Given the description of an element on the screen output the (x, y) to click on. 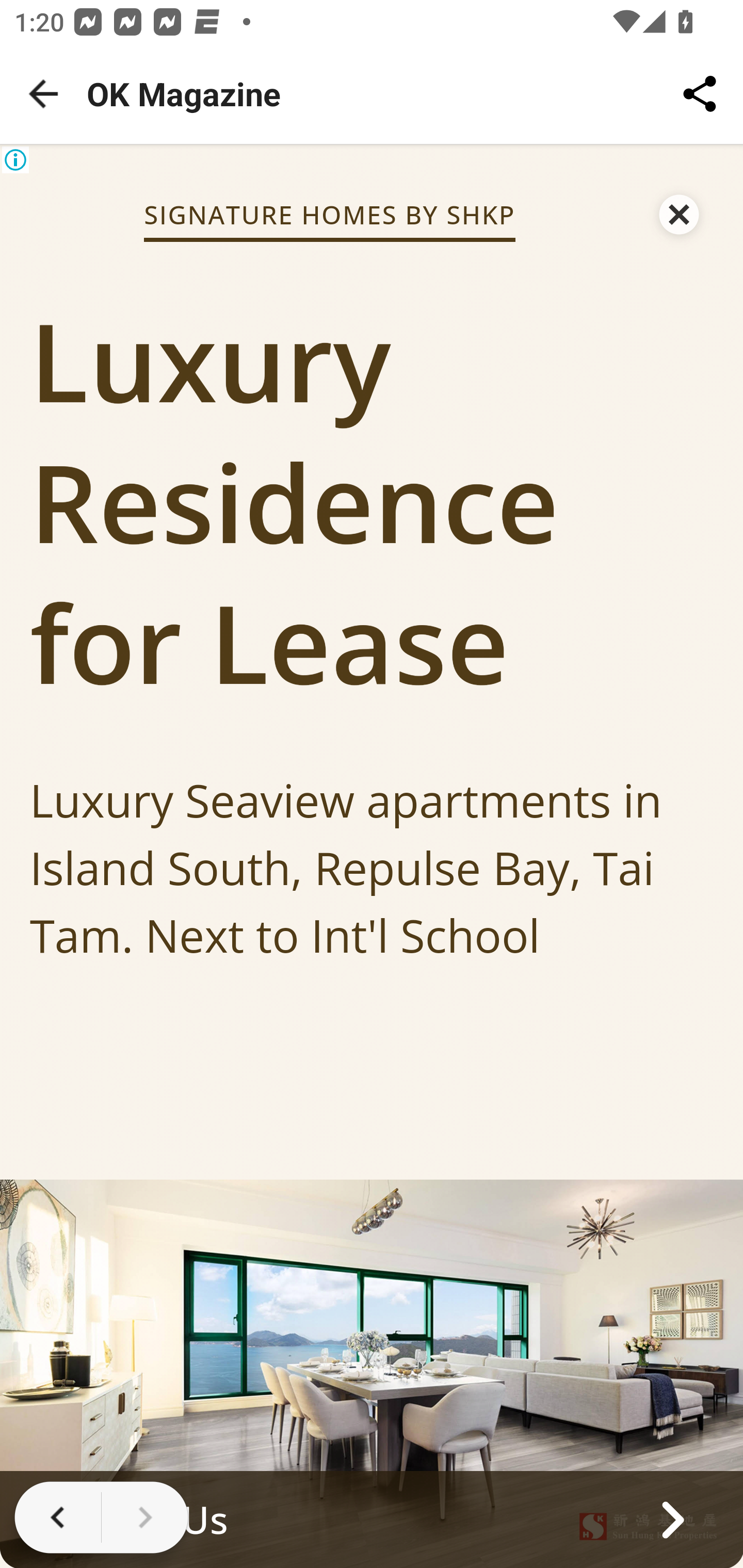
Close ad (679, 210)
SIGNATURE HOMES BY SHKP (329, 214)
Contact Us (371, 1518)
